Given the description of an element on the screen output the (x, y) to click on. 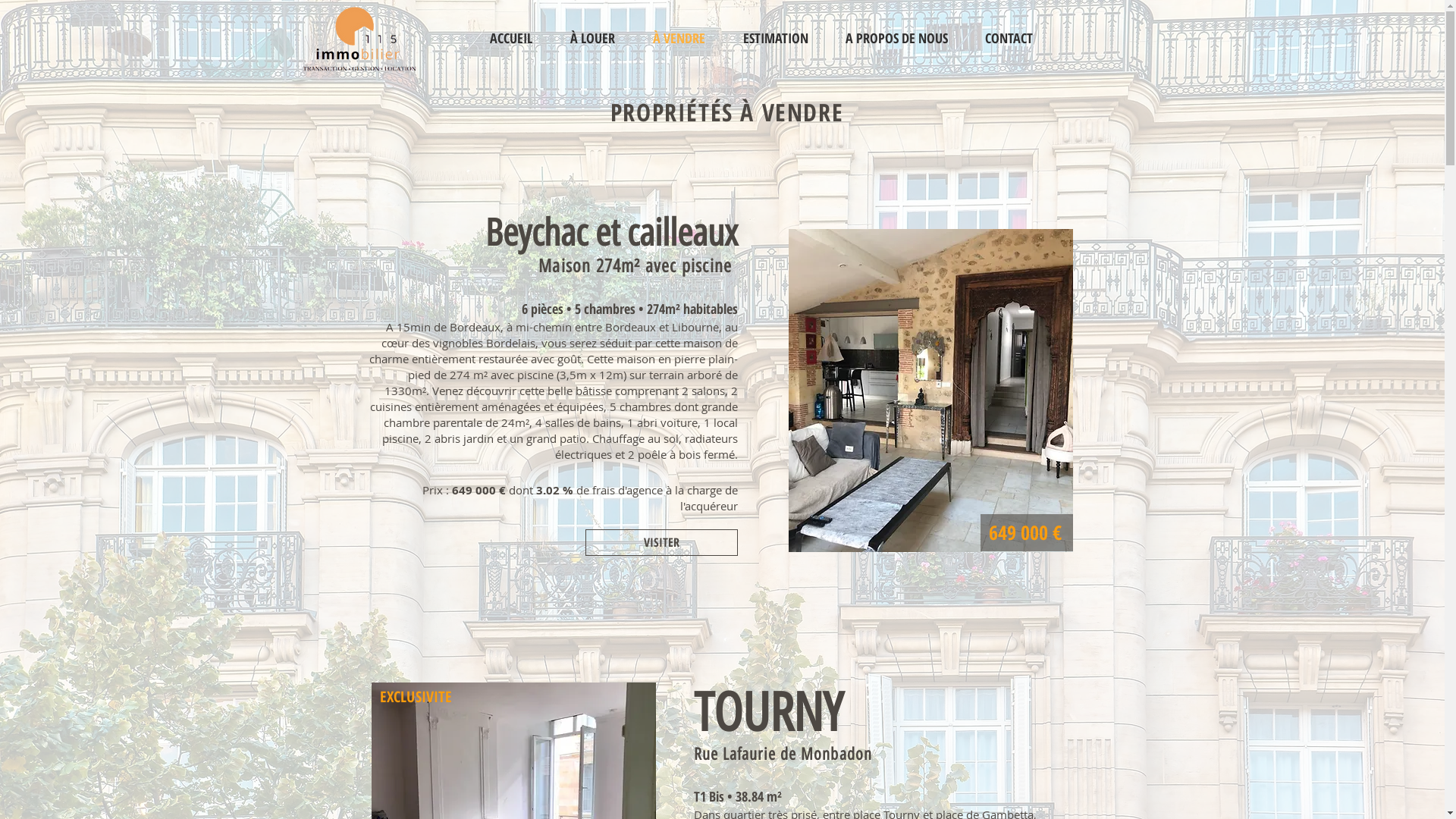
ESTIMATION Element type: text (774, 37)
CONTACT Element type: text (1008, 37)
A PROPOS DE NOUS Element type: text (896, 37)
VISITER Element type: text (661, 542)
ACCUEIL Element type: text (510, 37)
